Given the description of an element on the screen output the (x, y) to click on. 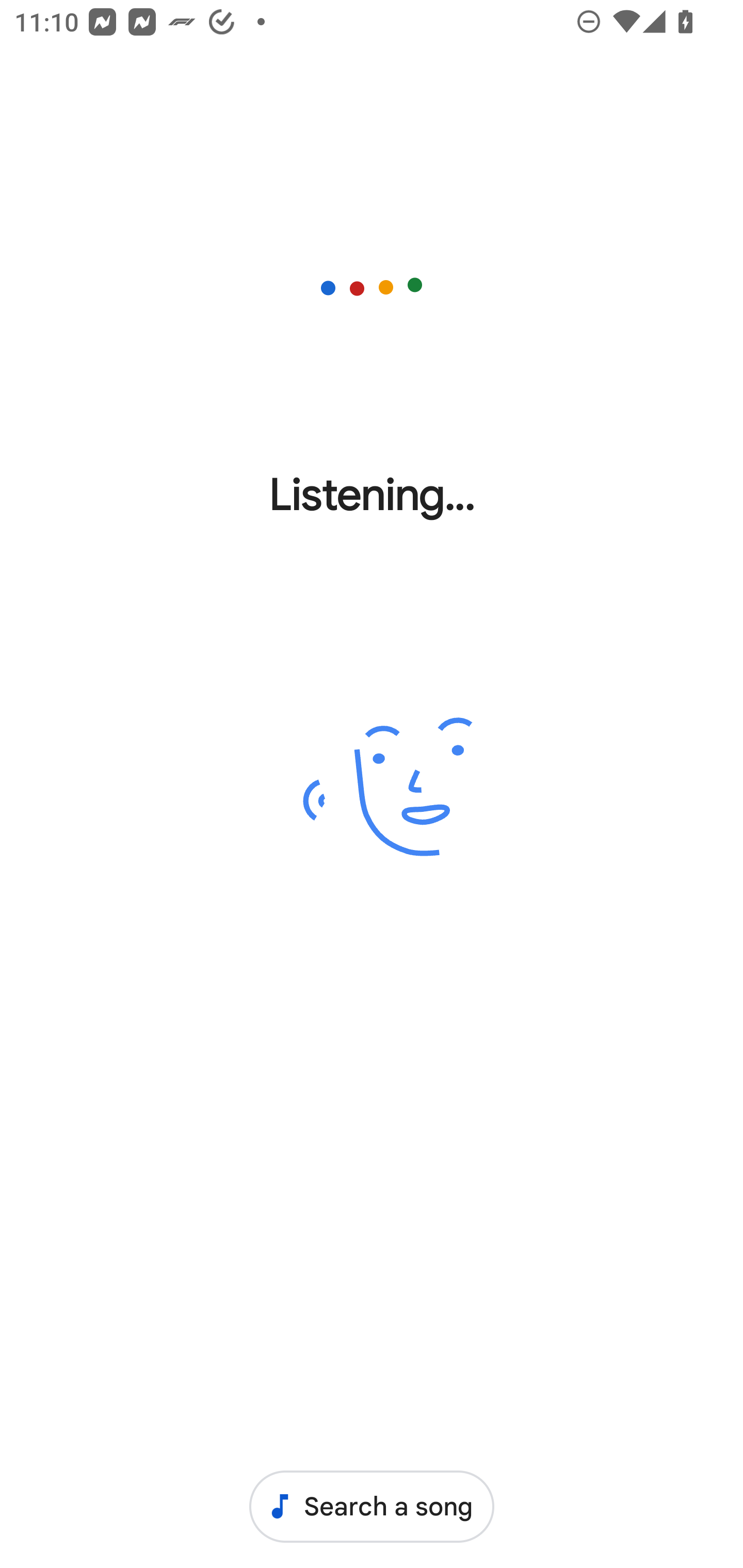
Search a song (371, 1505)
